Given the description of an element on the screen output the (x, y) to click on. 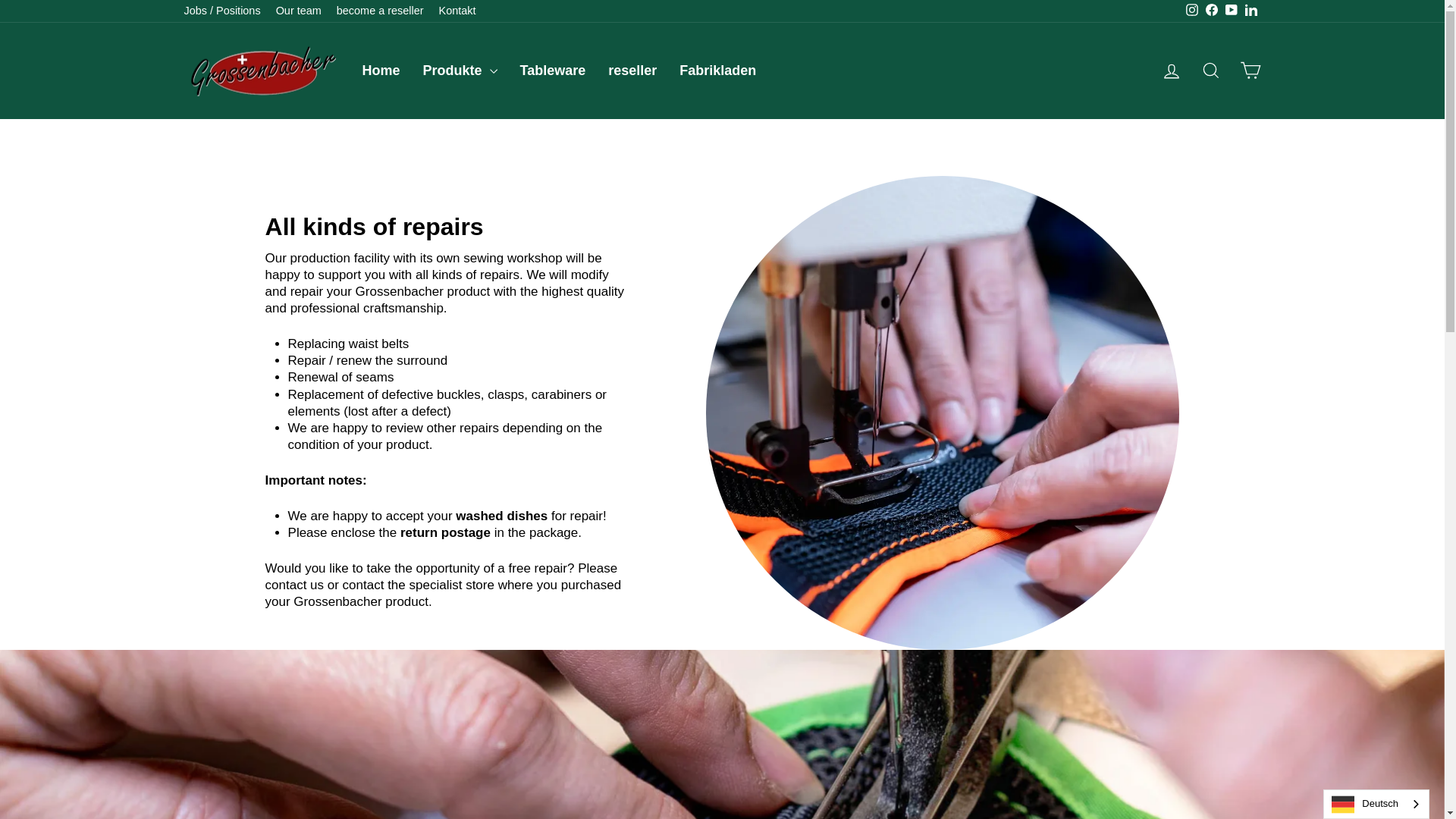
Grossenbacher Beat on Instagram (1190, 11)
Grossenbacher Beat on Facebook (1211, 11)
Grossenbacher Beat on LinkedIn (1250, 11)
account (1170, 70)
instagram (1192, 9)
Grossenbacher Beat on YouTube (1230, 11)
icon-search (1210, 70)
